Given the description of an element on the screen output the (x, y) to click on. 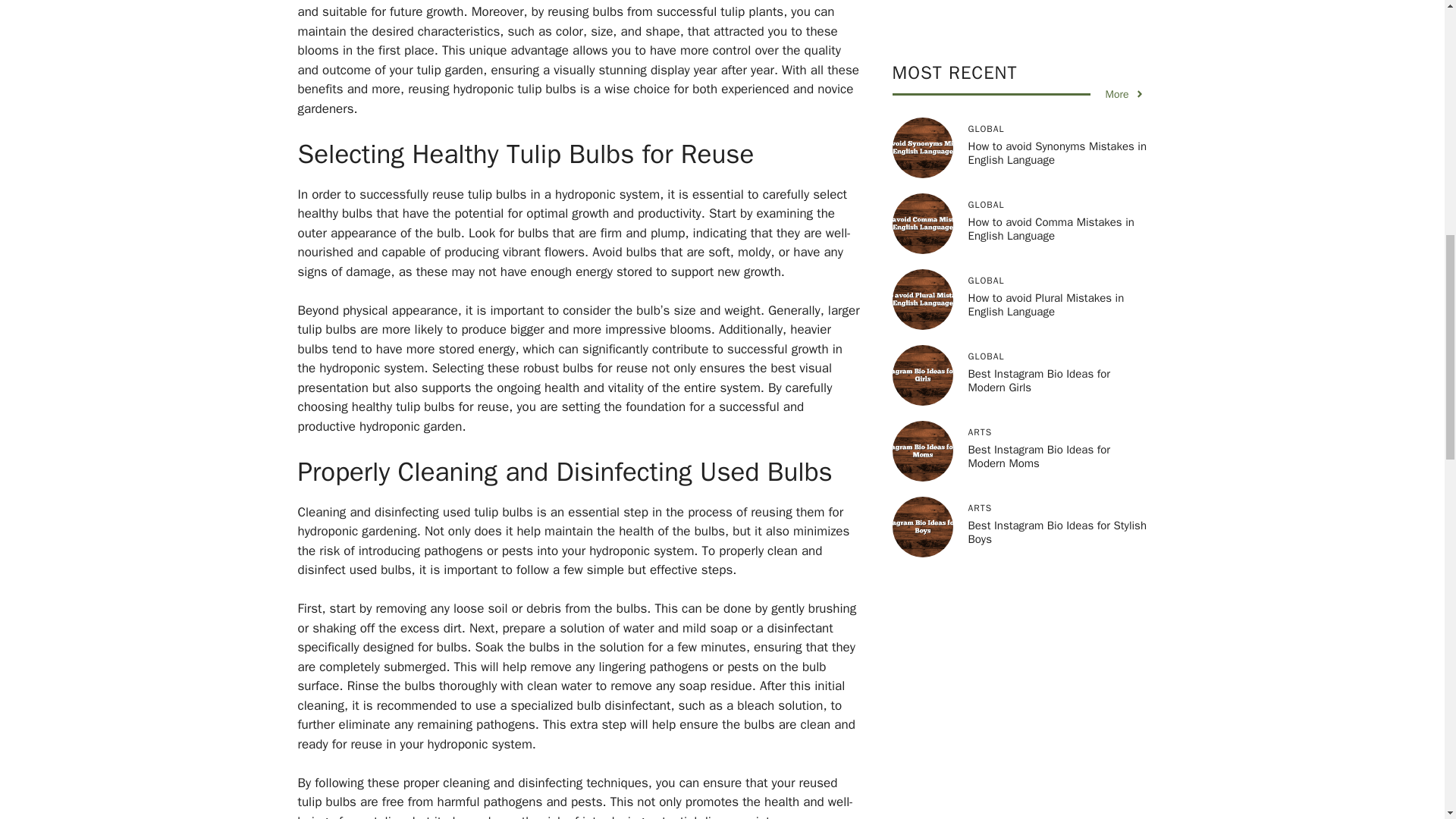
Best Instagram Bio Ideas for Modern Moms (1038, 41)
Best Instagram Bio Ideas for Stylish Boys (1056, 117)
